Given the description of an element on the screen output the (x, y) to click on. 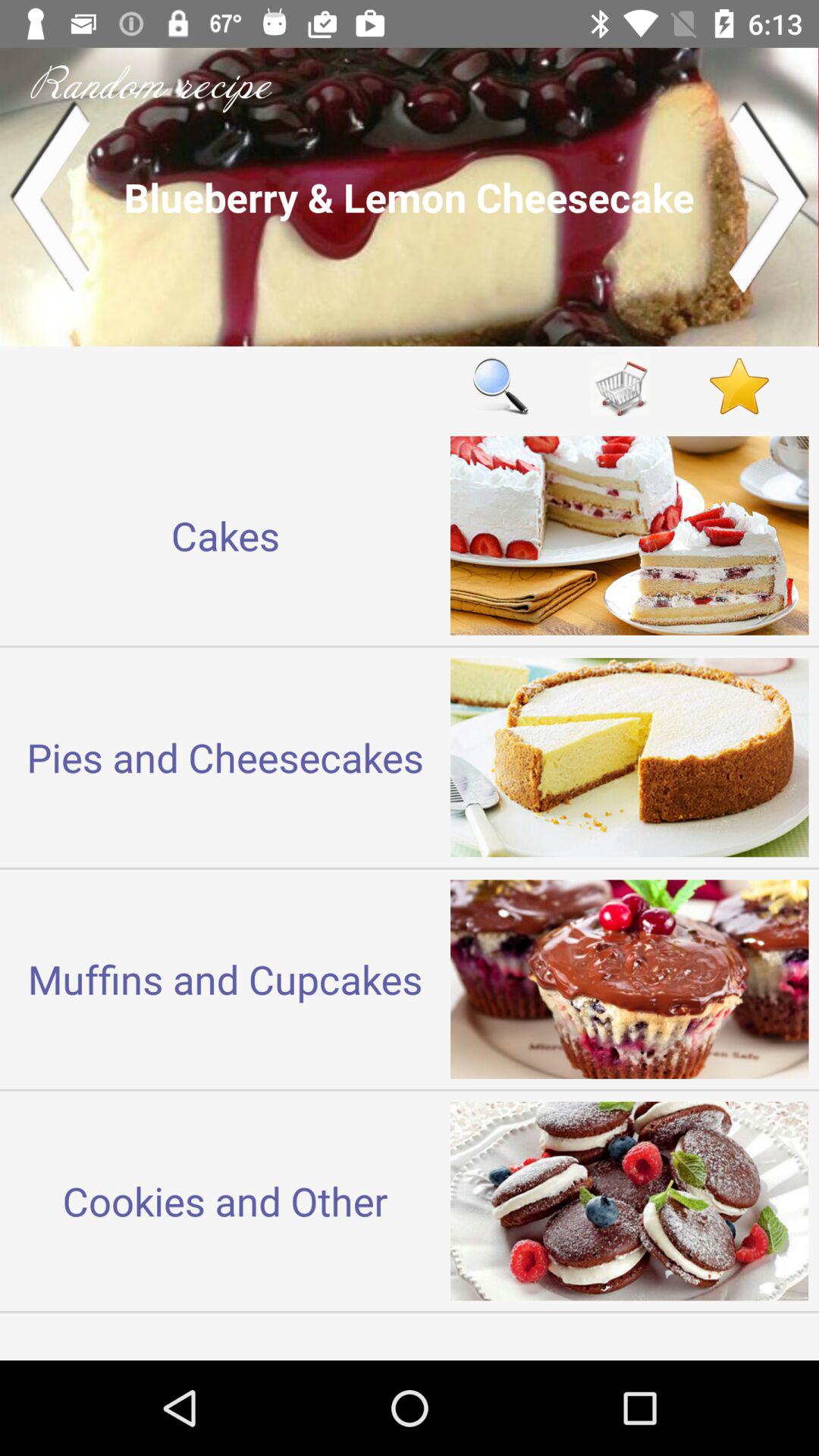
go to next recipe (769, 196)
